Given the description of an element on the screen output the (x, y) to click on. 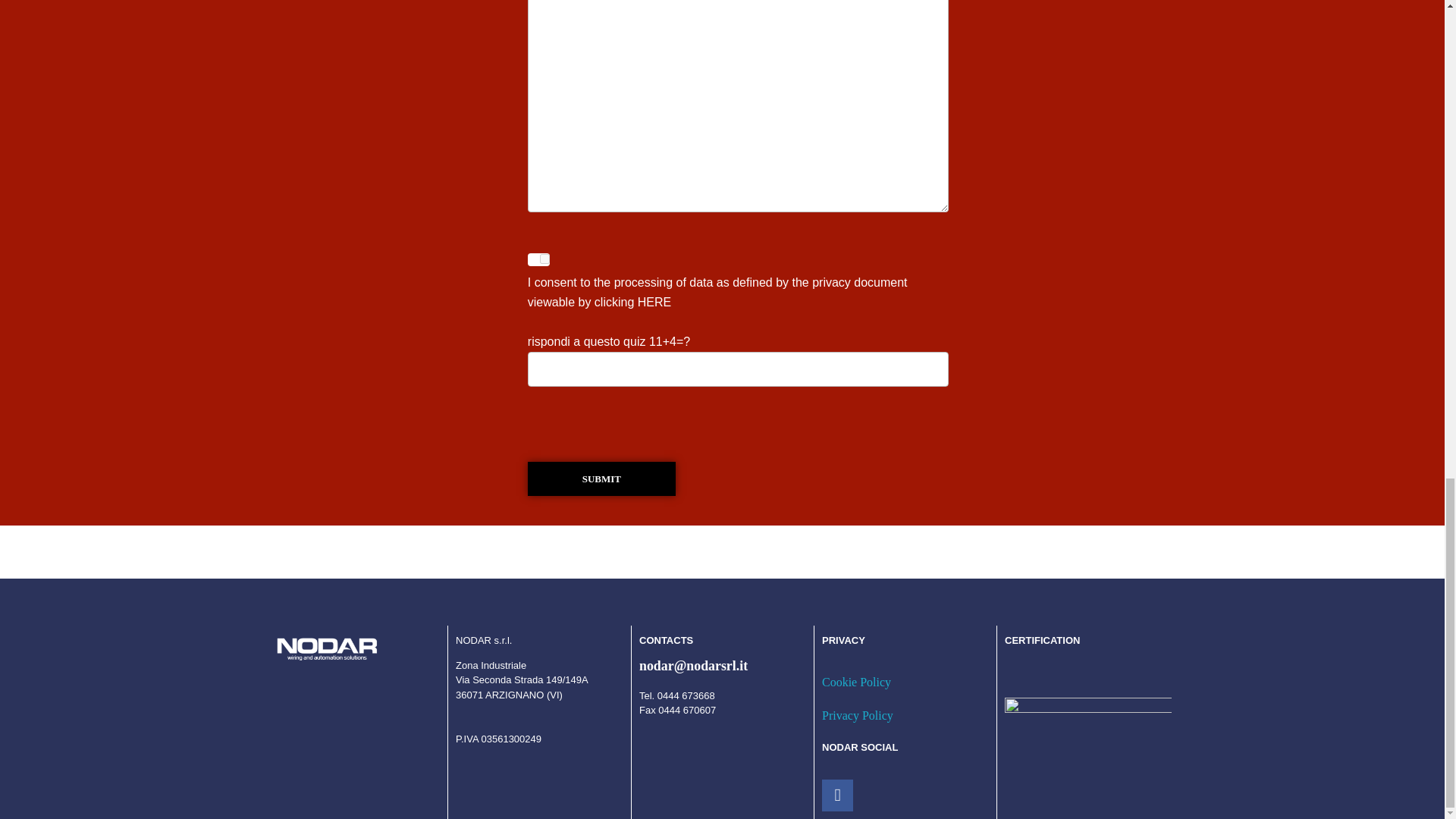
Privacy Policy  (857, 715)
Submit (601, 478)
Cookie Policy  (856, 681)
HERE (654, 301)
Privacy Policy (857, 715)
1 (545, 258)
Submit (601, 478)
Cookie Policy (856, 681)
